Given the description of an element on the screen output the (x, y) to click on. 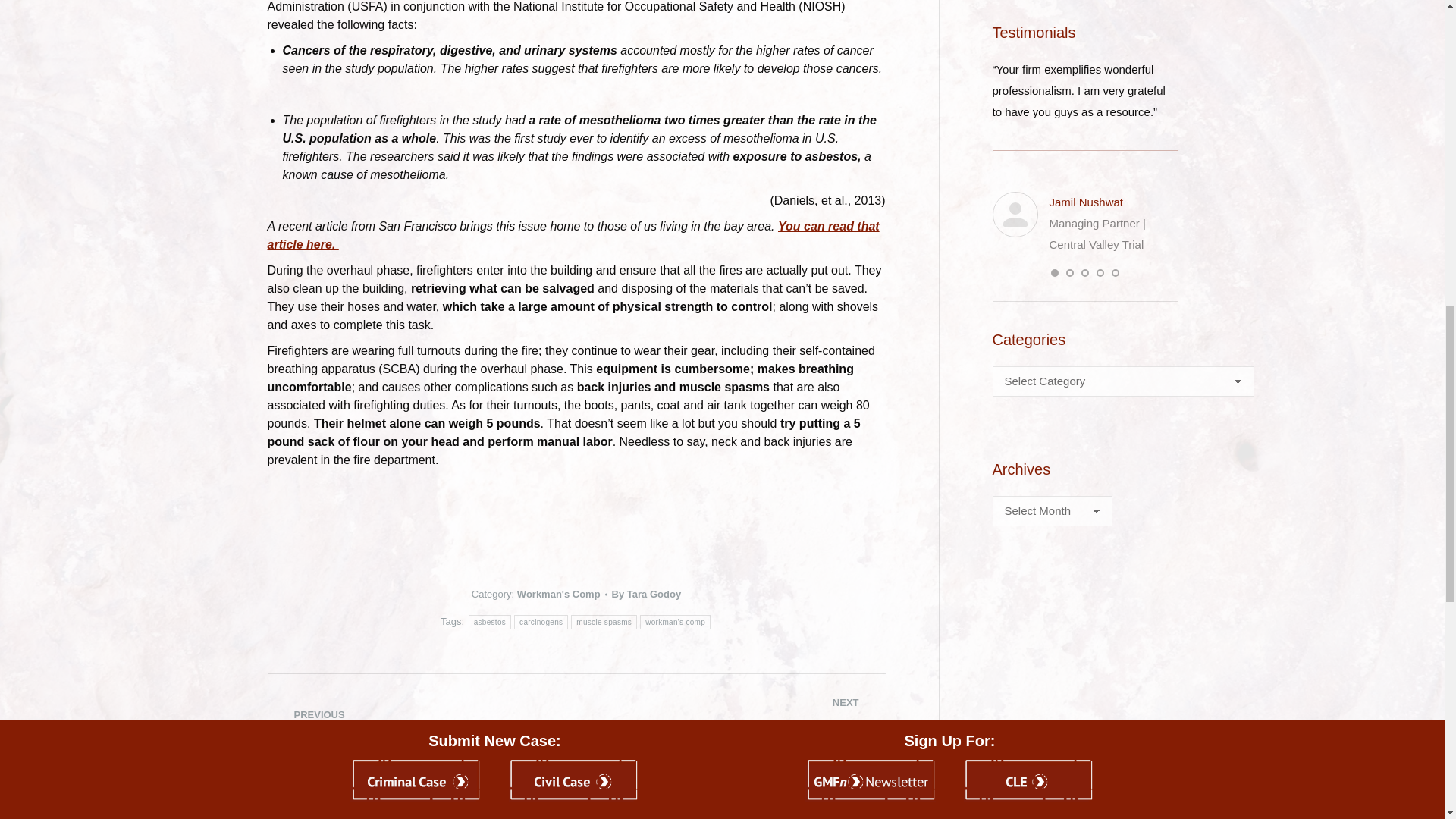
By Tara Godoy (646, 594)
View all posts by Tara Godoy (646, 594)
SFFD Cancer Victim (572, 235)
You can read that article here.  (572, 235)
Workman's Comp (557, 593)
